Given the description of an element on the screen output the (x, y) to click on. 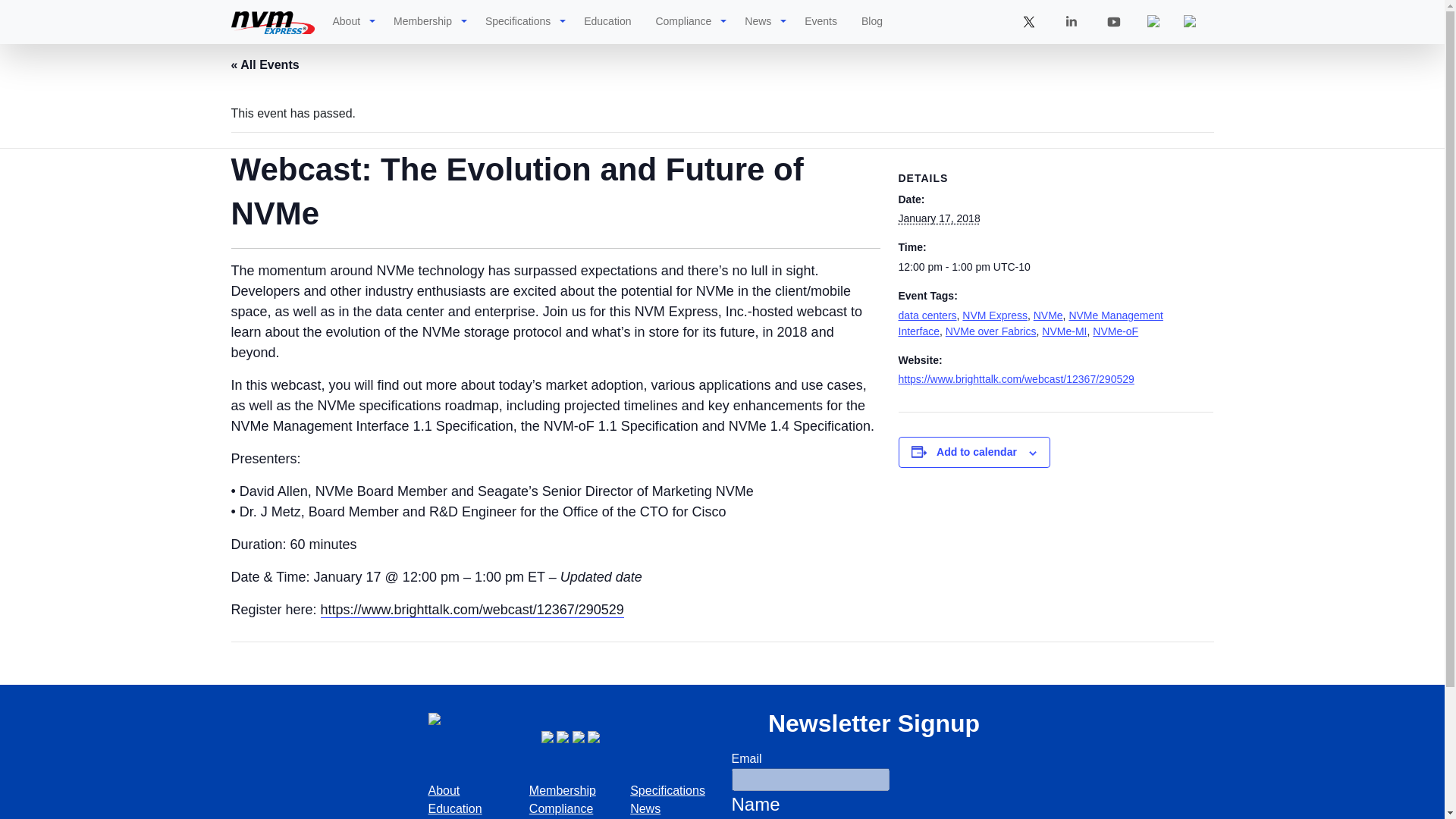
Twitter (1028, 21)
Twitter (548, 735)
Specifications (517, 21)
2018-01-17 (1046, 267)
YouTube (1112, 21)
YouTube (580, 735)
Compliance (683, 21)
Membership (422, 21)
Events (820, 21)
Education (607, 21)
